Given the description of an element on the screen output the (x, y) to click on. 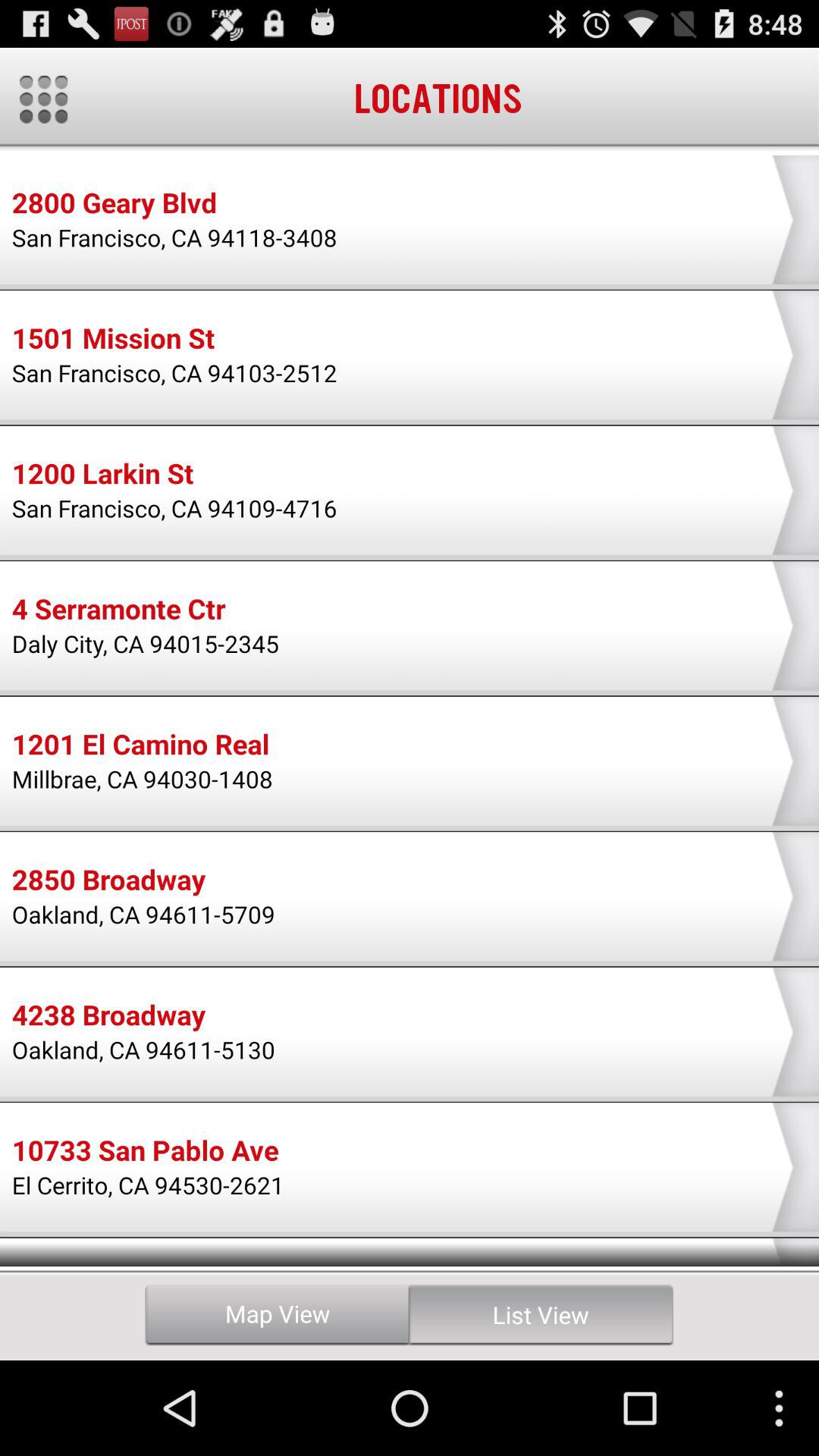
view as grid (43, 99)
